Given the description of an element on the screen output the (x, y) to click on. 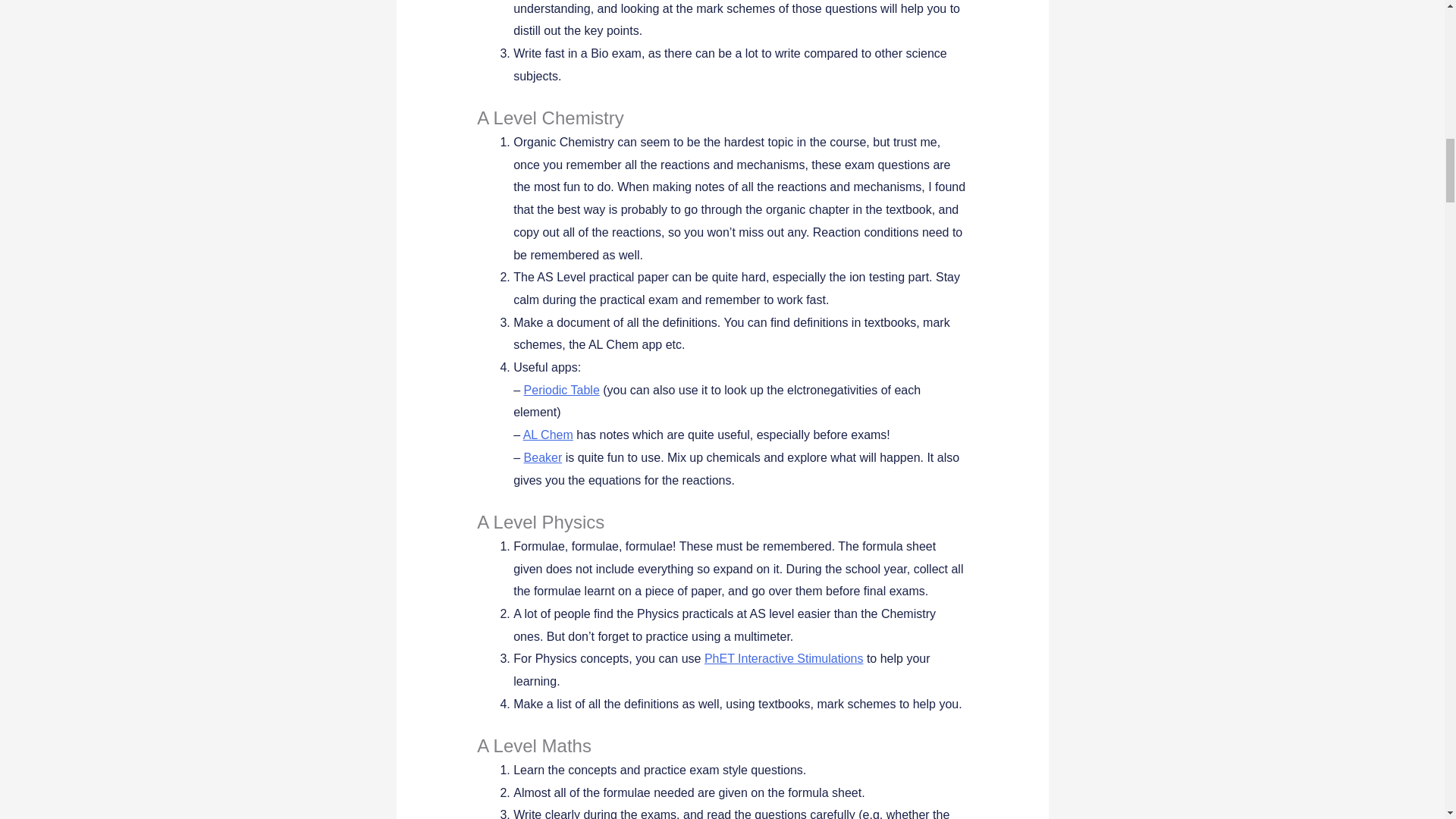
Periodic Table (561, 390)
PhET Interactive Stimulations (783, 658)
AL Chem (547, 434)
Beaker (543, 457)
